Given the description of an element on the screen output the (x, y) to click on. 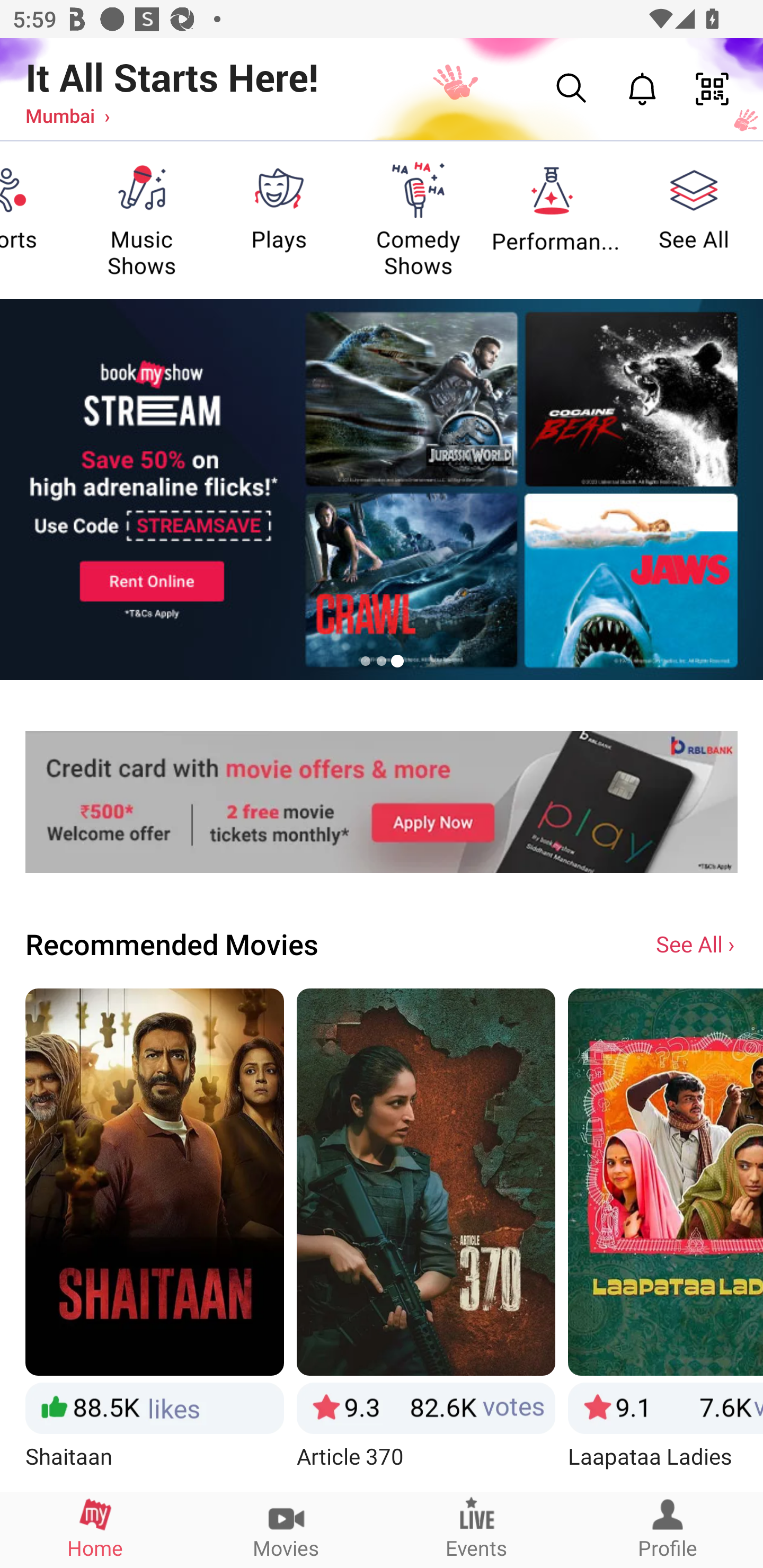
Mumbai  › (67, 114)
See All › (696, 943)
Shaitaan (154, 1239)
Article 370 (425, 1239)
Laapataa Ladies (665, 1239)
Home (95, 1529)
Movies (285, 1529)
Events (476, 1529)
Profile (667, 1529)
